Given the description of an element on the screen output the (x, y) to click on. 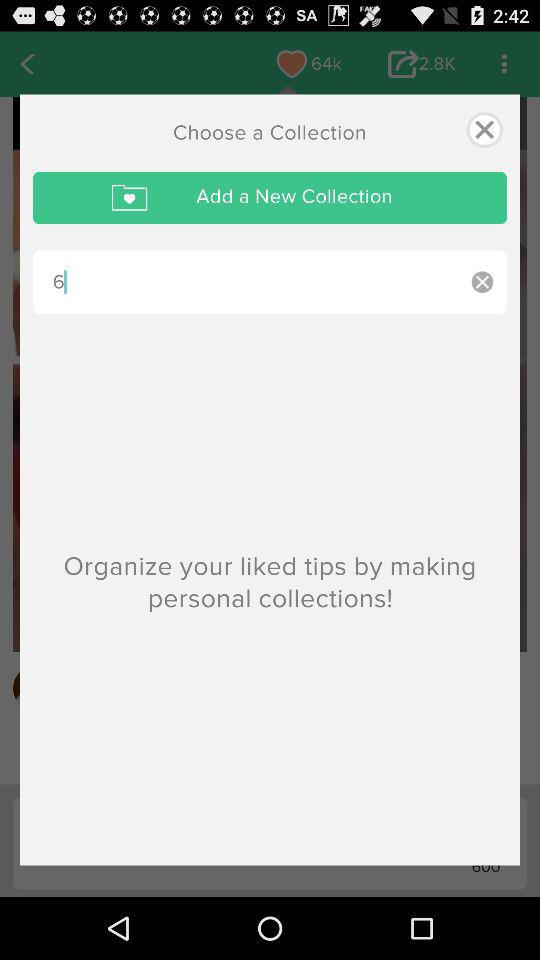
close collection menu (484, 129)
